Given the description of an element on the screen output the (x, y) to click on. 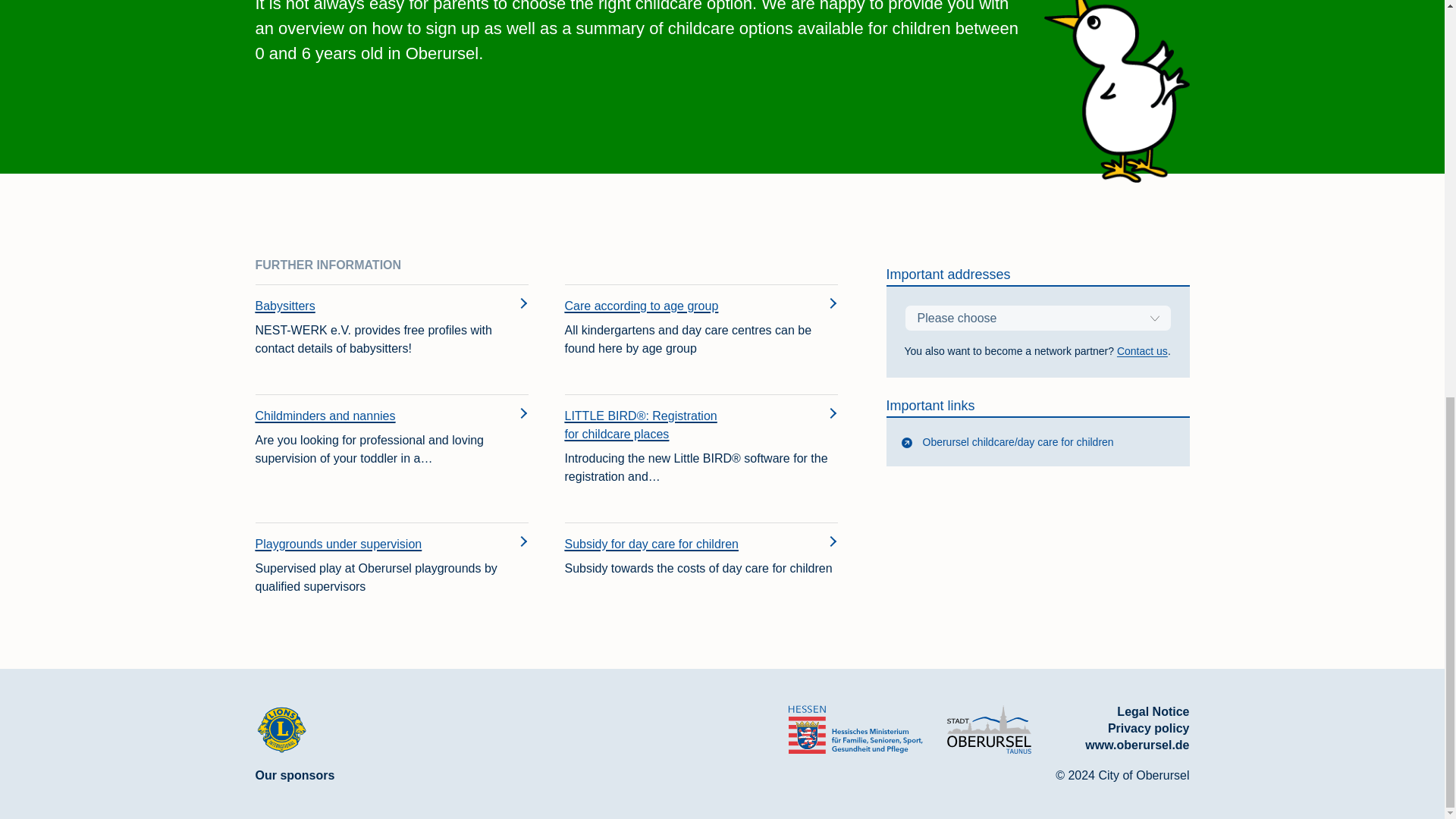
www.oberursel.de (1136, 744)
Privacy policy (1148, 727)
Babysitters (366, 306)
Playgrounds under supervision (366, 544)
Childminders and nannies (366, 416)
Subsidy for day care for children (676, 544)
Contact us (1141, 350)
Care according to age group (676, 306)
Legal Notice (1152, 711)
Our sponsors (294, 775)
